Given the description of an element on the screen output the (x, y) to click on. 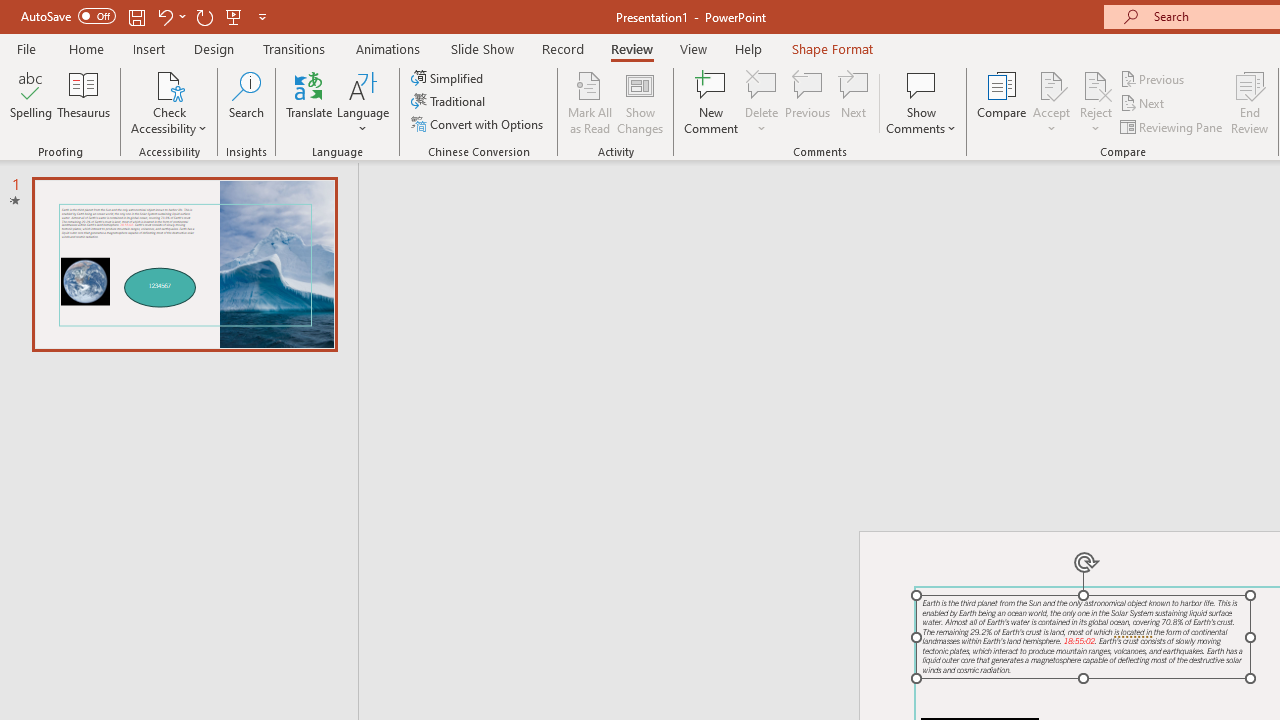
End Review (1249, 102)
Spelling... (31, 102)
Mark All as Read (589, 102)
